Given the description of an element on the screen output the (x, y) to click on. 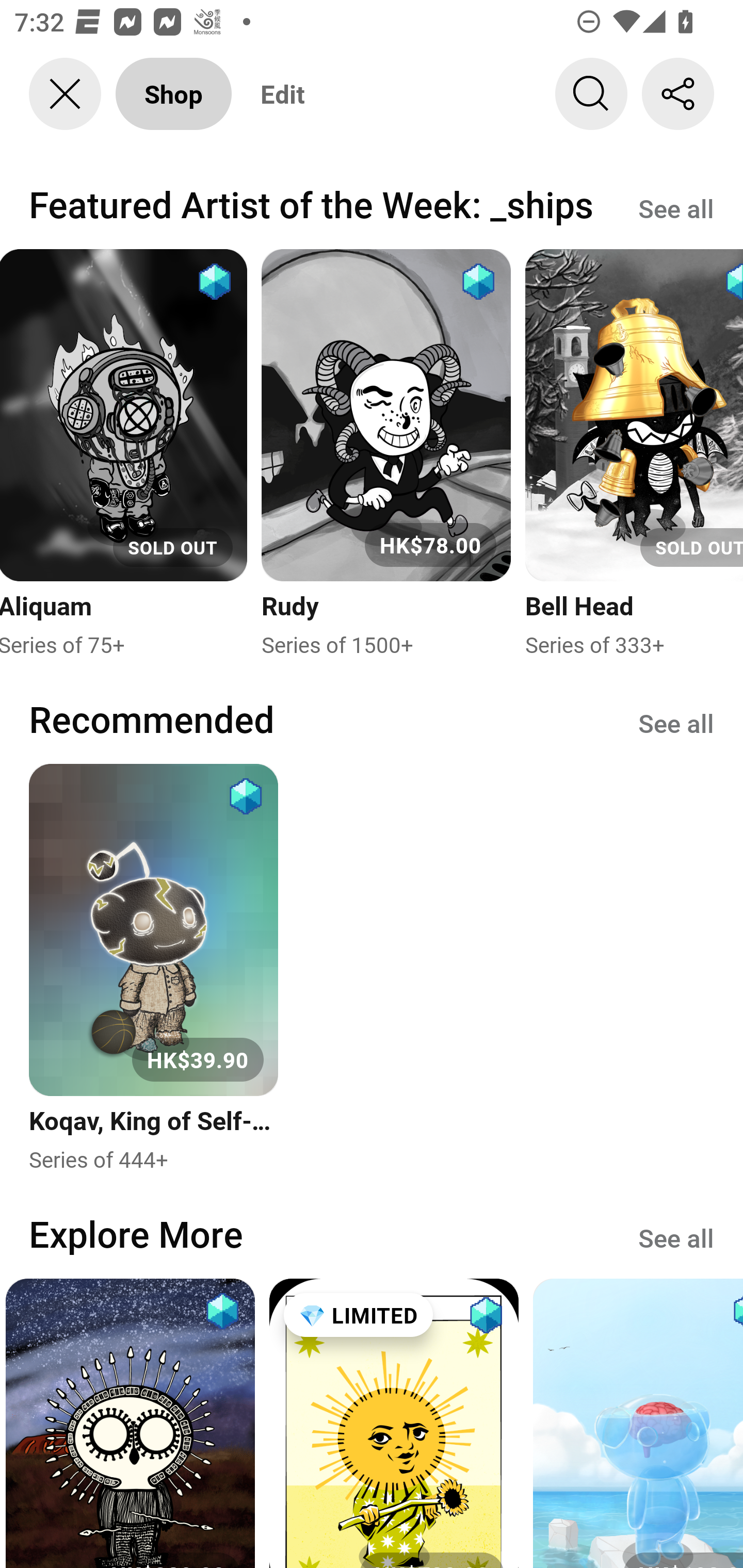
Close (64, 93)
Edit (282, 93)
Search (591, 93)
Share (677, 93)
Featured Artist of the Week: _ships (311, 203)
See all (676, 206)
Aliquam, Series of 75+, SOLD OUT (123, 453)
Rudy, Series of 1500+, HK$78.00 (386, 453)
Bell Head, Series of 333+, SOLD OUT (634, 453)
Recommended (151, 718)
See all (676, 723)
Koqav, King of Self-Care, Series of 444+, HK$39.90 (152, 968)
Explore More (135, 1233)
See all (676, 1235)
Wandjina, Series of 500+, HK$389.00 (129, 1422)
💎 LIMITED, The Sun, Series of 150+, HK$788.00 (393, 1422)
Masu Water, Series of 205+, HK$198.00 (637, 1422)
